Given the description of an element on the screen output the (x, y) to click on. 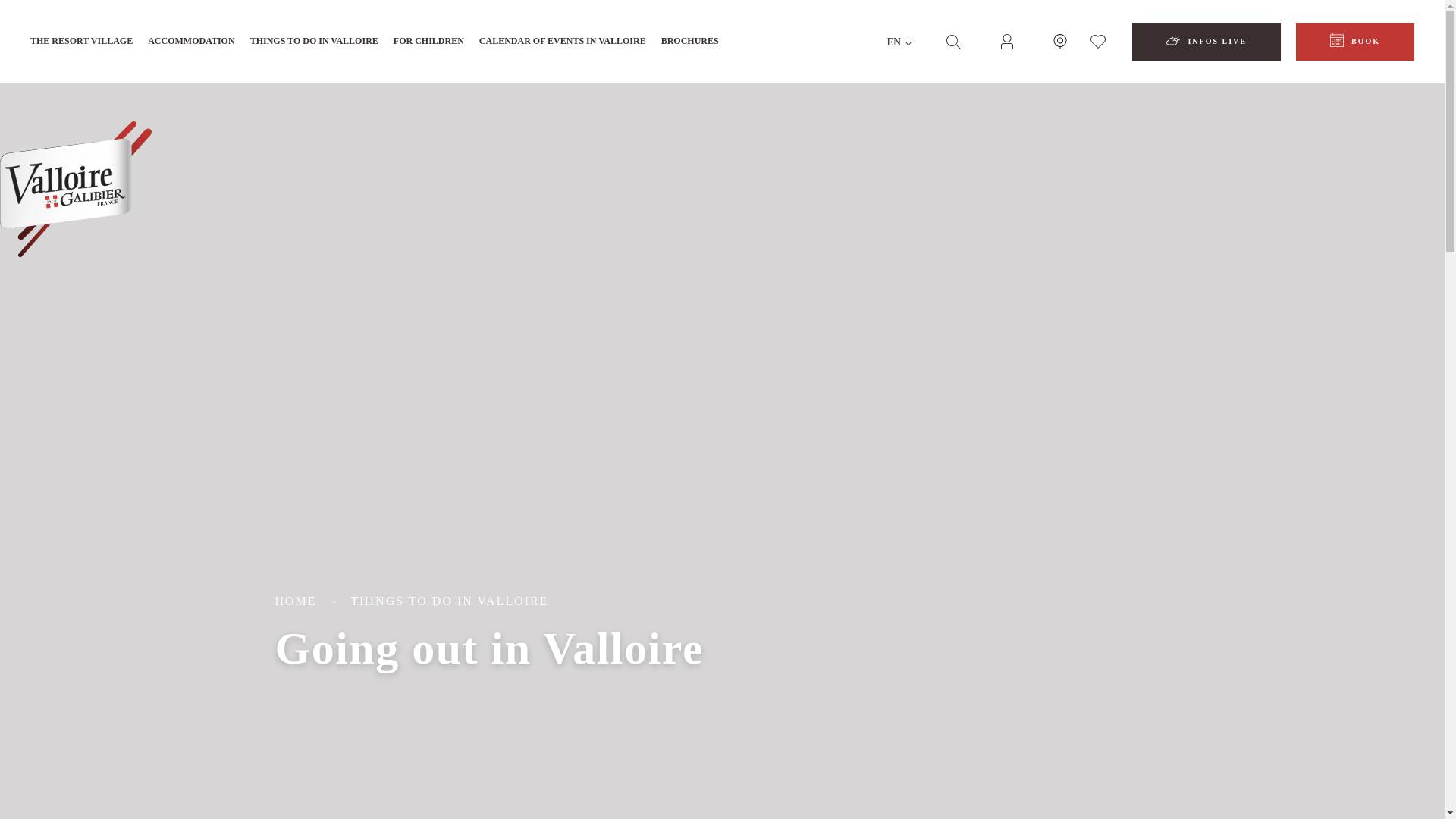
ACCOMMODATION (191, 41)
THE RESORT VILLAGE (81, 41)
Infos Live (1206, 41)
